Given the description of an element on the screen output the (x, y) to click on. 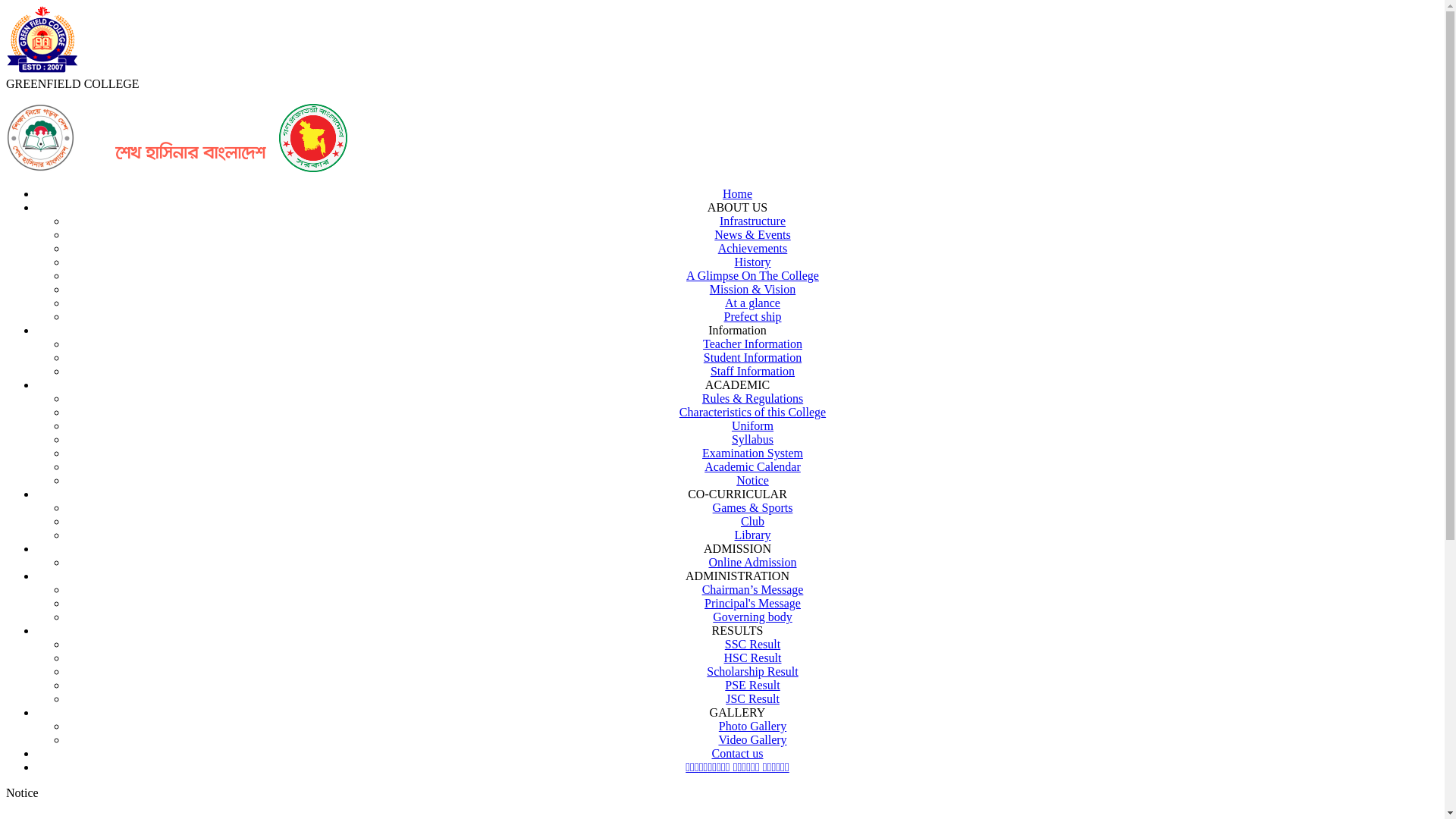
Characteristics of this College Element type: text (752, 411)
Teacher Information Element type: text (752, 343)
Online Admission Element type: text (752, 561)
Video Gallery Element type: text (752, 739)
Club Element type: text (752, 520)
Rules & Regulations Element type: text (752, 398)
Infrastructure Element type: text (752, 220)
History Element type: text (752, 261)
Student Information Element type: text (752, 357)
Staff Information Element type: text (752, 370)
RESULTS Element type: text (737, 630)
Contact us Element type: text (736, 752)
Scholarship Result Element type: text (751, 671)
Notice Element type: text (752, 479)
Prefect ship Element type: text (752, 316)
PSE Result Element type: text (751, 684)
HSC Result Element type: text (752, 657)
Mission & Vision Element type: text (752, 288)
Library Element type: text (752, 534)
GALLERY Element type: text (737, 712)
Photo Gallery Element type: text (752, 725)
Governing body Element type: text (751, 616)
ABOUT US Element type: text (737, 206)
ADMINISTRATION Element type: text (737, 575)
Games & Sports Element type: text (752, 507)
Examination System Element type: text (752, 452)
Academic Calendar Element type: text (752, 466)
Syllabus Element type: text (752, 439)
ACADEMIC Element type: text (737, 384)
JSC Result Element type: text (752, 698)
SSC Result Element type: text (752, 643)
CO-CURRICULAR Element type: text (737, 493)
News & Events Element type: text (752, 234)
Achievements Element type: text (752, 247)
Information Element type: text (736, 329)
At a glance Element type: text (752, 302)
A Glimpse On The College Element type: text (752, 275)
Home Element type: text (737, 193)
Principal's Message Element type: text (752, 602)
Uniform Element type: text (752, 425)
ADMISSION Element type: text (737, 548)
